Given the description of an element on the screen output the (x, y) to click on. 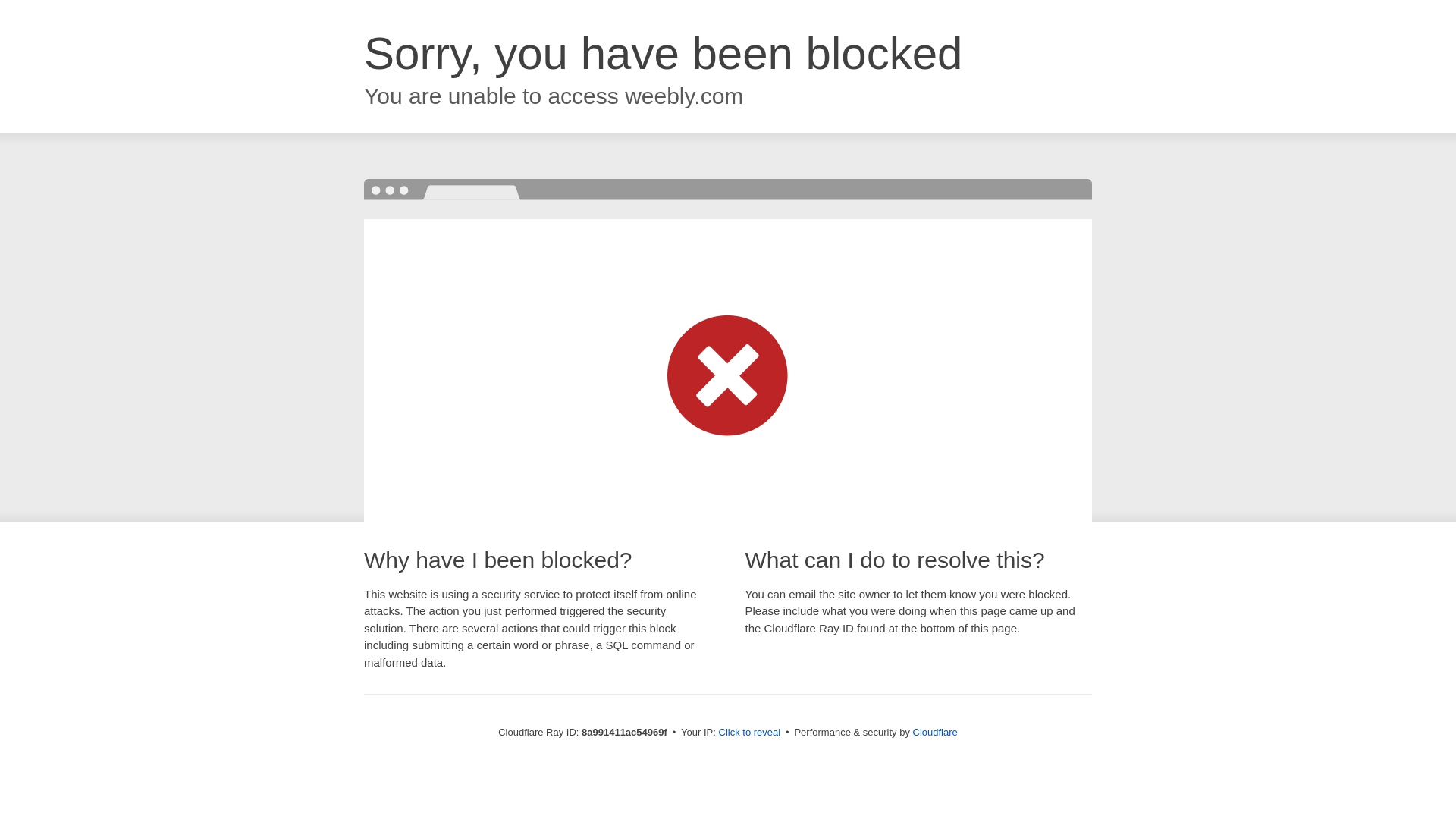
Cloudflare (935, 731)
Click to reveal (749, 732)
